Given the description of an element on the screen output the (x, y) to click on. 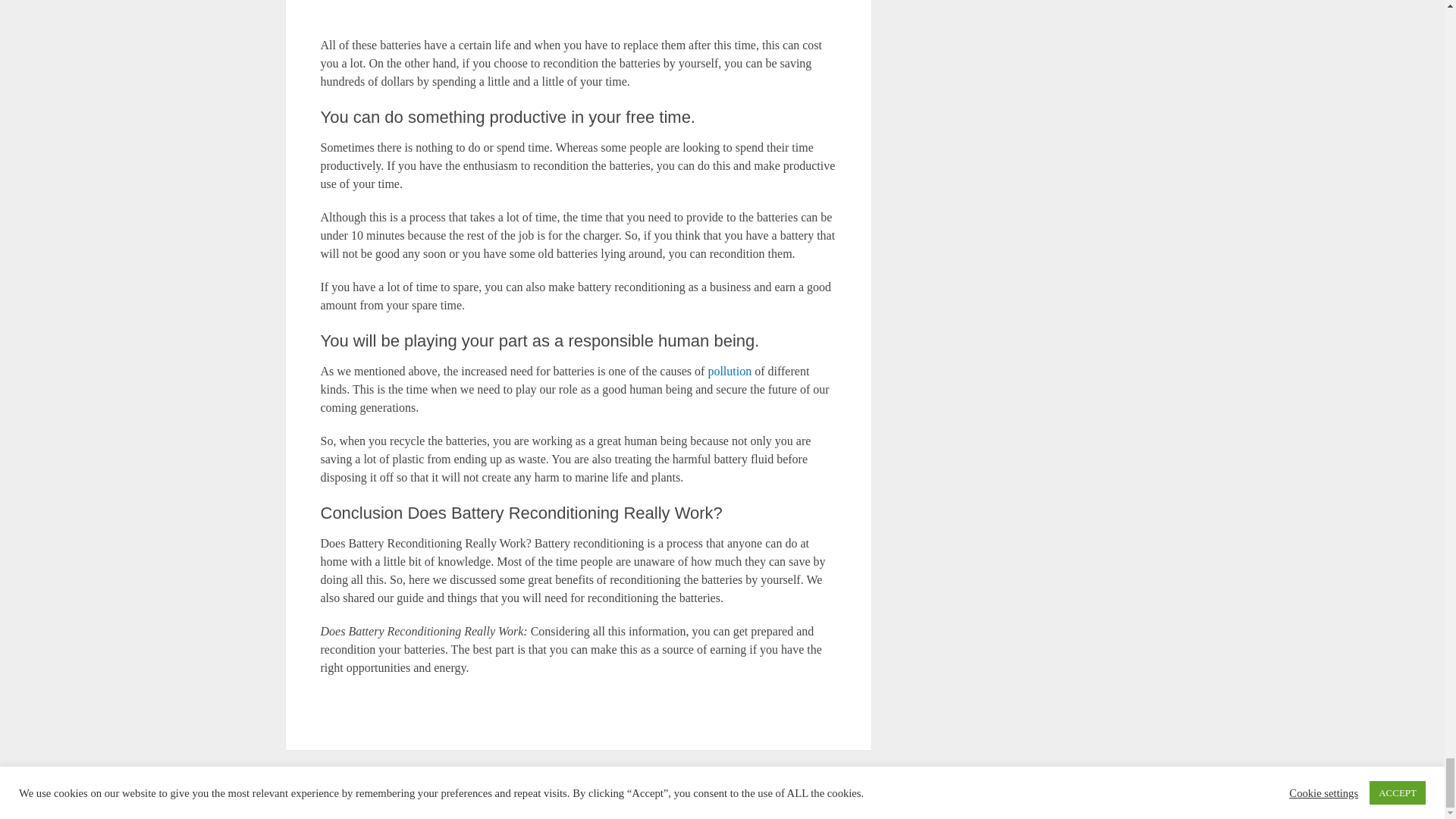
Battery Reconditioning (341, 796)
pollution (729, 370)
MyThemeShop (1046, 796)
Battery Reconditioning Bring Dead Batteries Back To Life (341, 796)
